Given the description of an element on the screen output the (x, y) to click on. 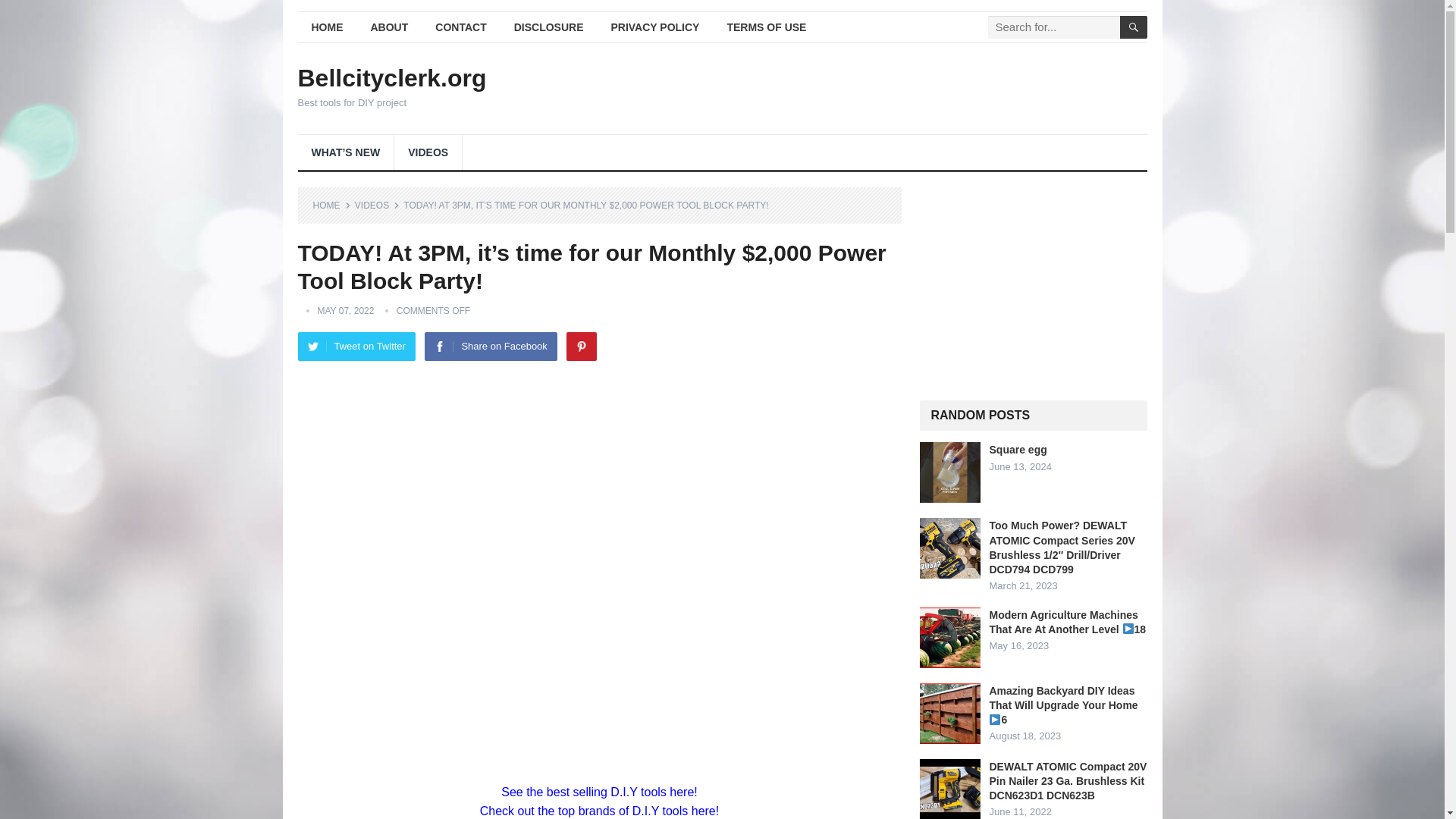
PRIVACY POLICY (654, 27)
DISCLOSURE (548, 27)
Tweet on Twitter (355, 346)
Check out the top brands of D.I.Y tools here! (599, 810)
Pinterest (581, 346)
VIDEOS (427, 152)
HOME (331, 204)
See the best selling D.I.Y tools here! (598, 791)
ABOUT (389, 27)
VIDEOS (376, 204)
Share on Facebook (490, 346)
Bellcityclerk.org (391, 78)
View all posts in Videos (376, 204)
HOME (326, 27)
TERMS OF USE (766, 27)
